Given the description of an element on the screen output the (x, y) to click on. 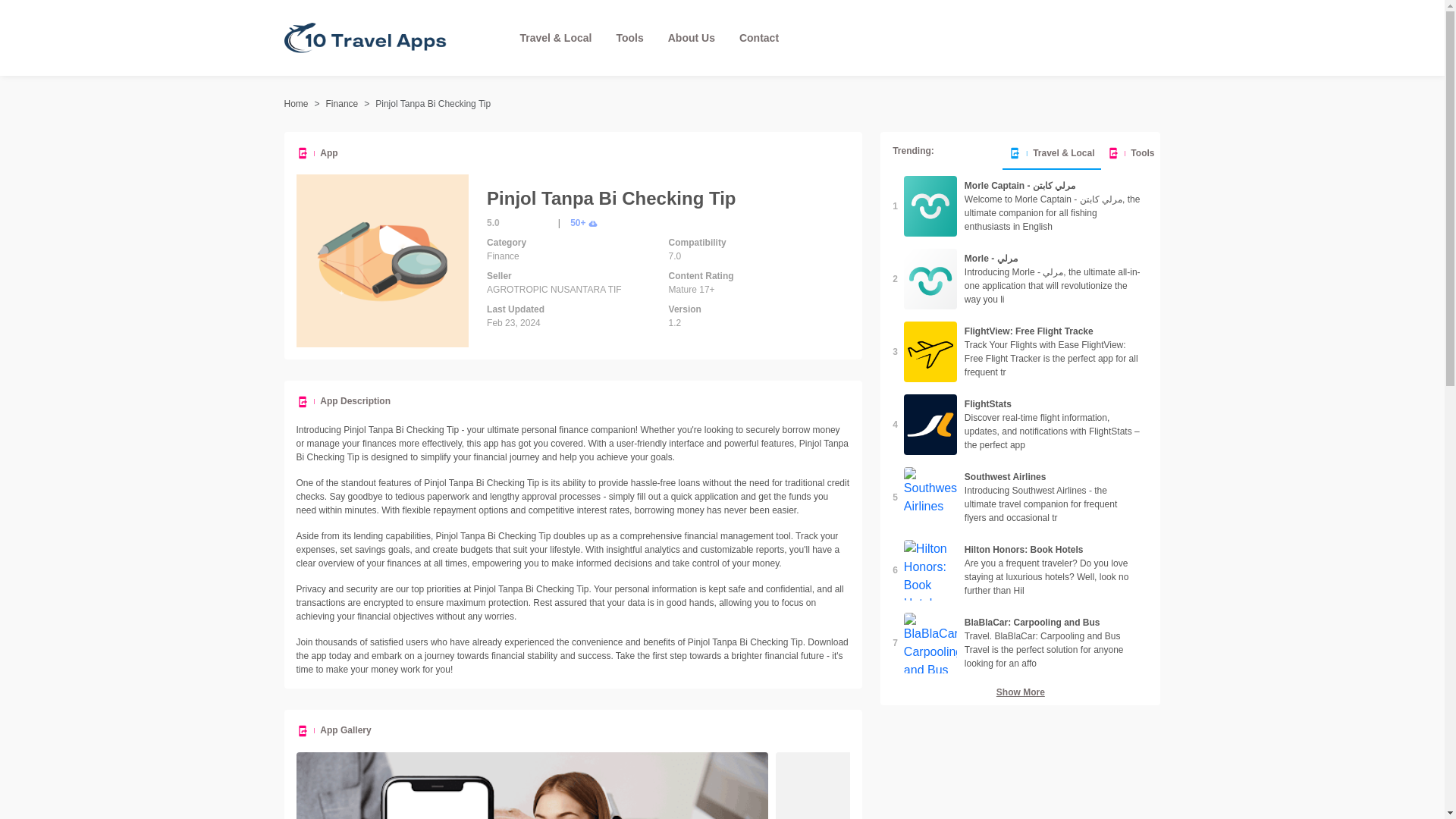
Finance (342, 103)
Contact (758, 37)
Tools (629, 37)
Home (295, 103)
About Us (691, 37)
